Given the description of an element on the screen output the (x, y) to click on. 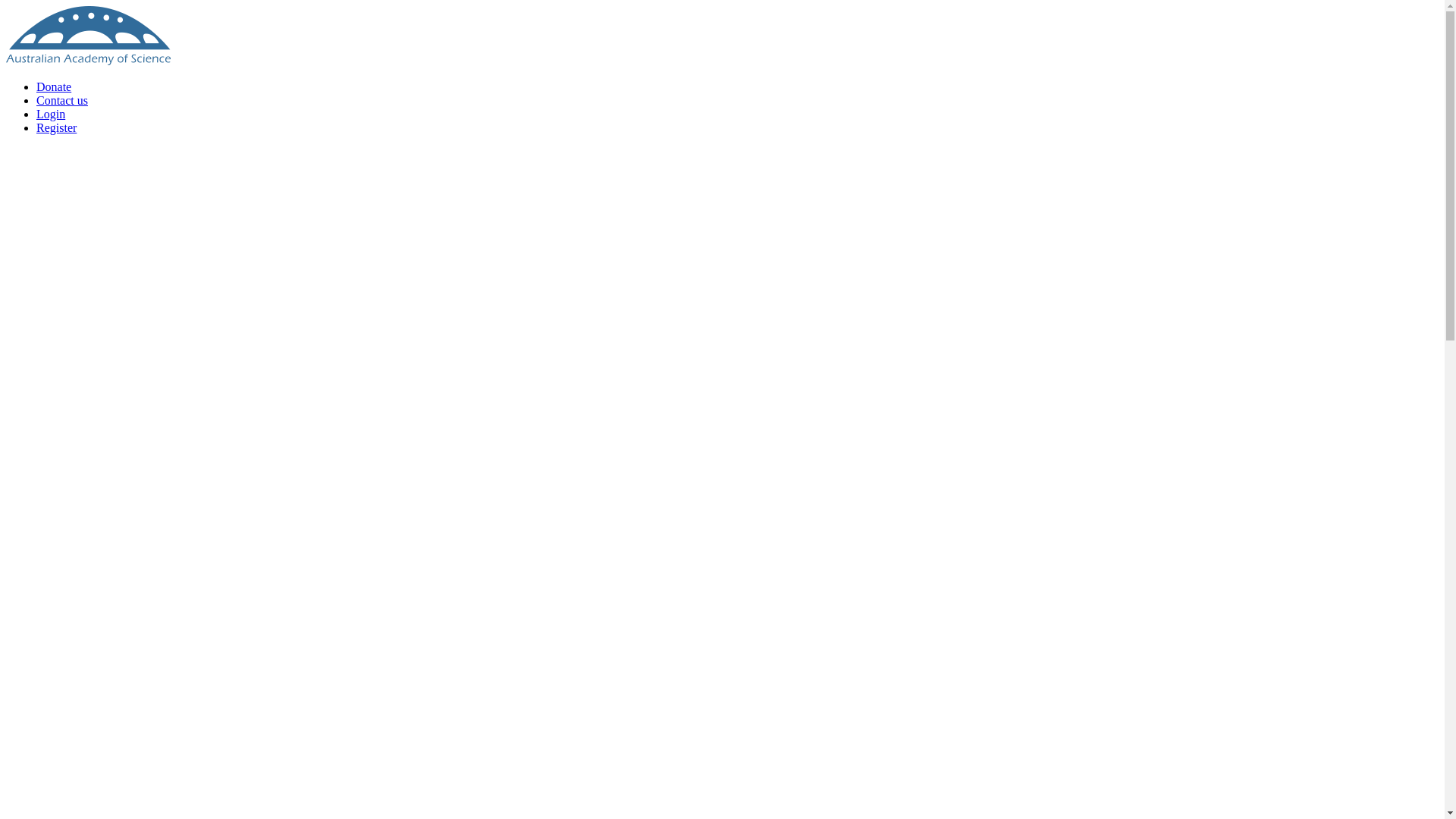
Register Element type: text (56, 127)
Contact us Element type: text (61, 100)
Login Element type: text (50, 113)
Donate Element type: text (53, 86)
